Given the description of an element on the screen output the (x, y) to click on. 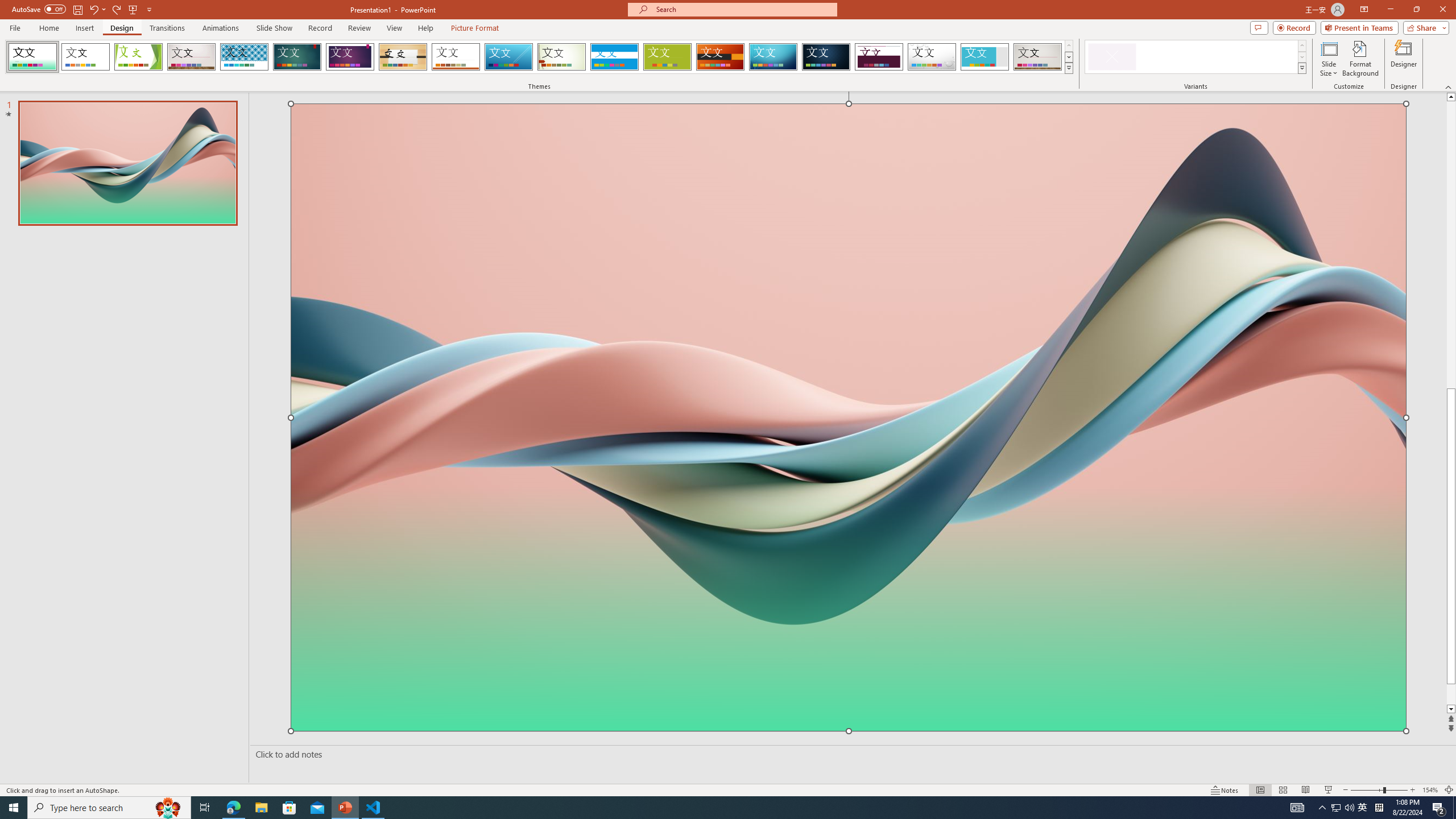
AutomationID: SlideThemesGallery (539, 56)
Gallery (1037, 56)
AfterglowVTI (32, 56)
Themes (1068, 67)
Line down (1450, 709)
